Given the description of an element on the screen output the (x, y) to click on. 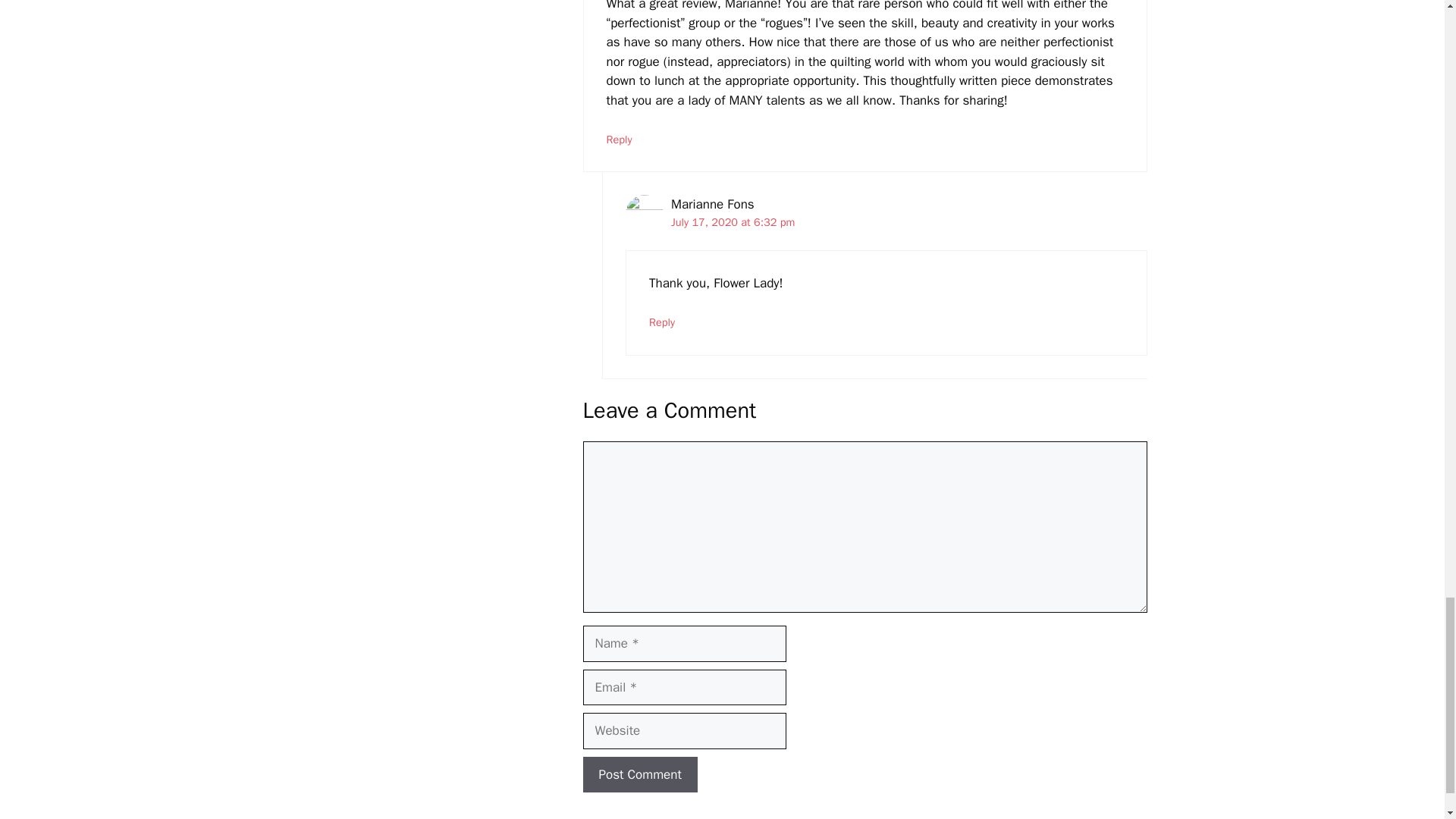
Reply (619, 139)
Post Comment (639, 774)
Reply (662, 322)
July 17, 2020 at 6:32 pm (732, 222)
Post Comment (639, 774)
